Given the description of an element on the screen output the (x, y) to click on. 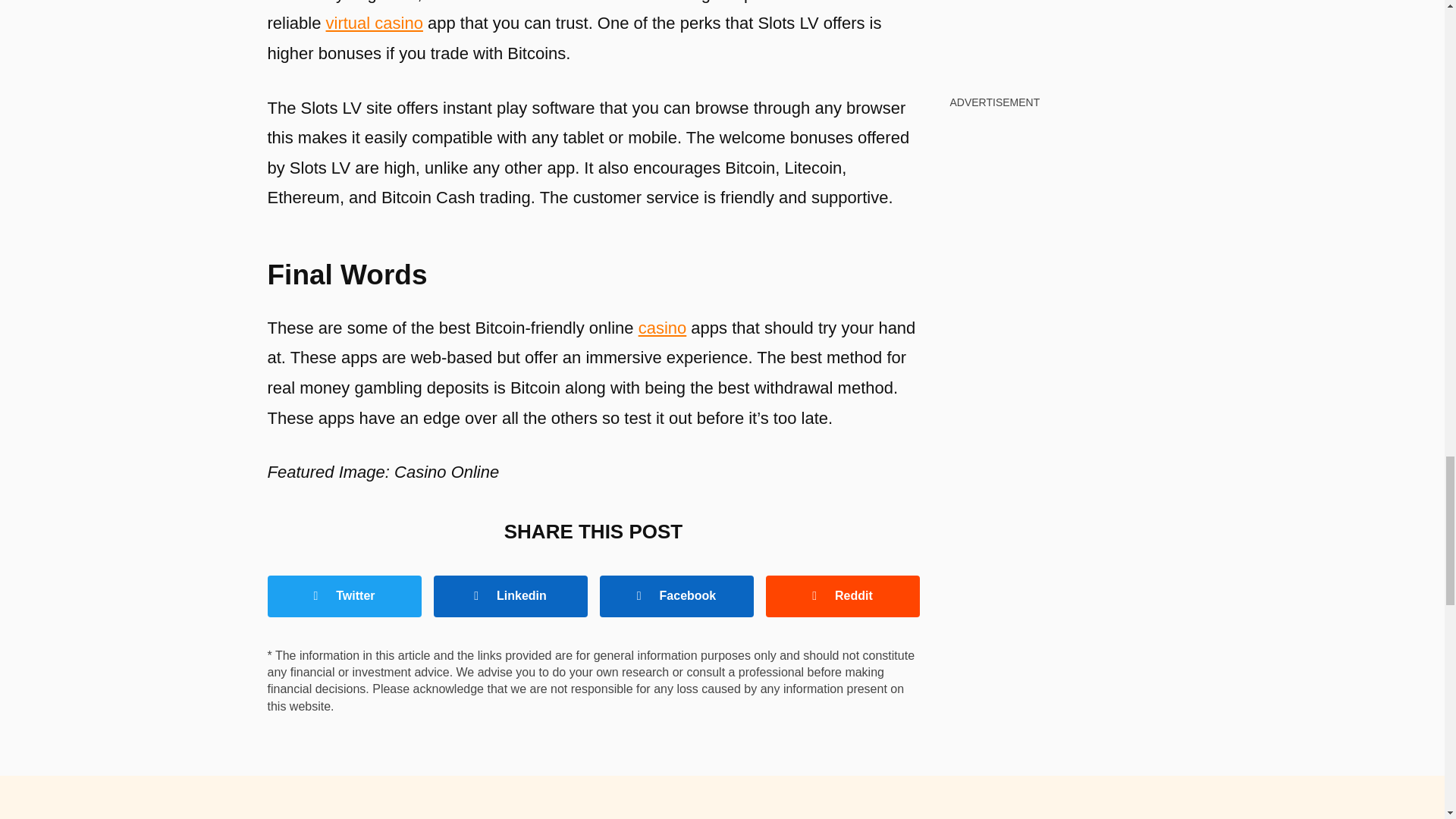
Reddit (842, 595)
Linkedin (510, 595)
Twitter (343, 595)
casino (663, 327)
virtual casino (374, 22)
Facebook (675, 595)
